Given the description of an element on the screen output the (x, y) to click on. 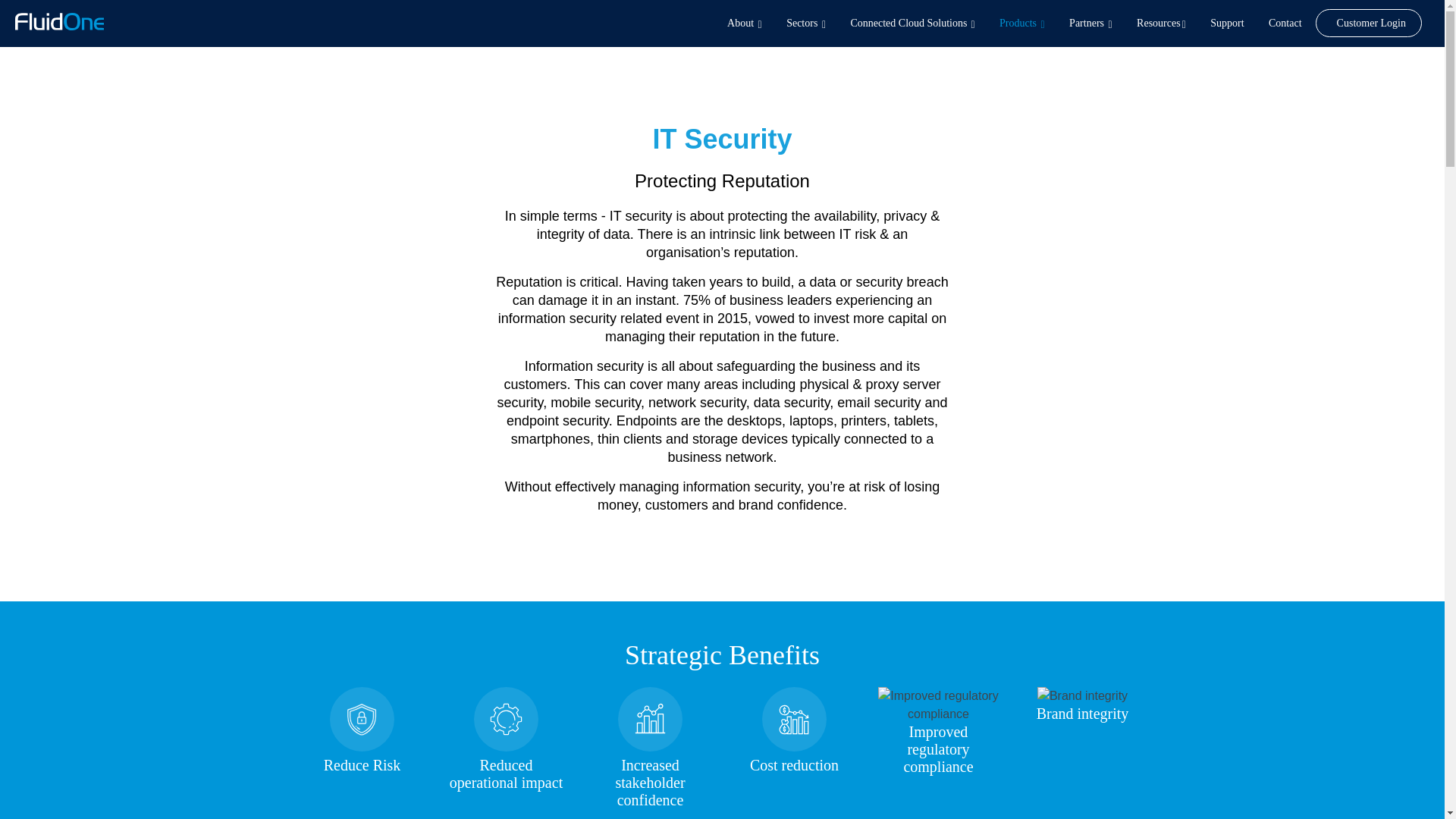
Connected Cloud Solutions (912, 23)
About (744, 23)
Products (1021, 23)
Sectors (805, 23)
